Given the description of an element on the screen output the (x, y) to click on. 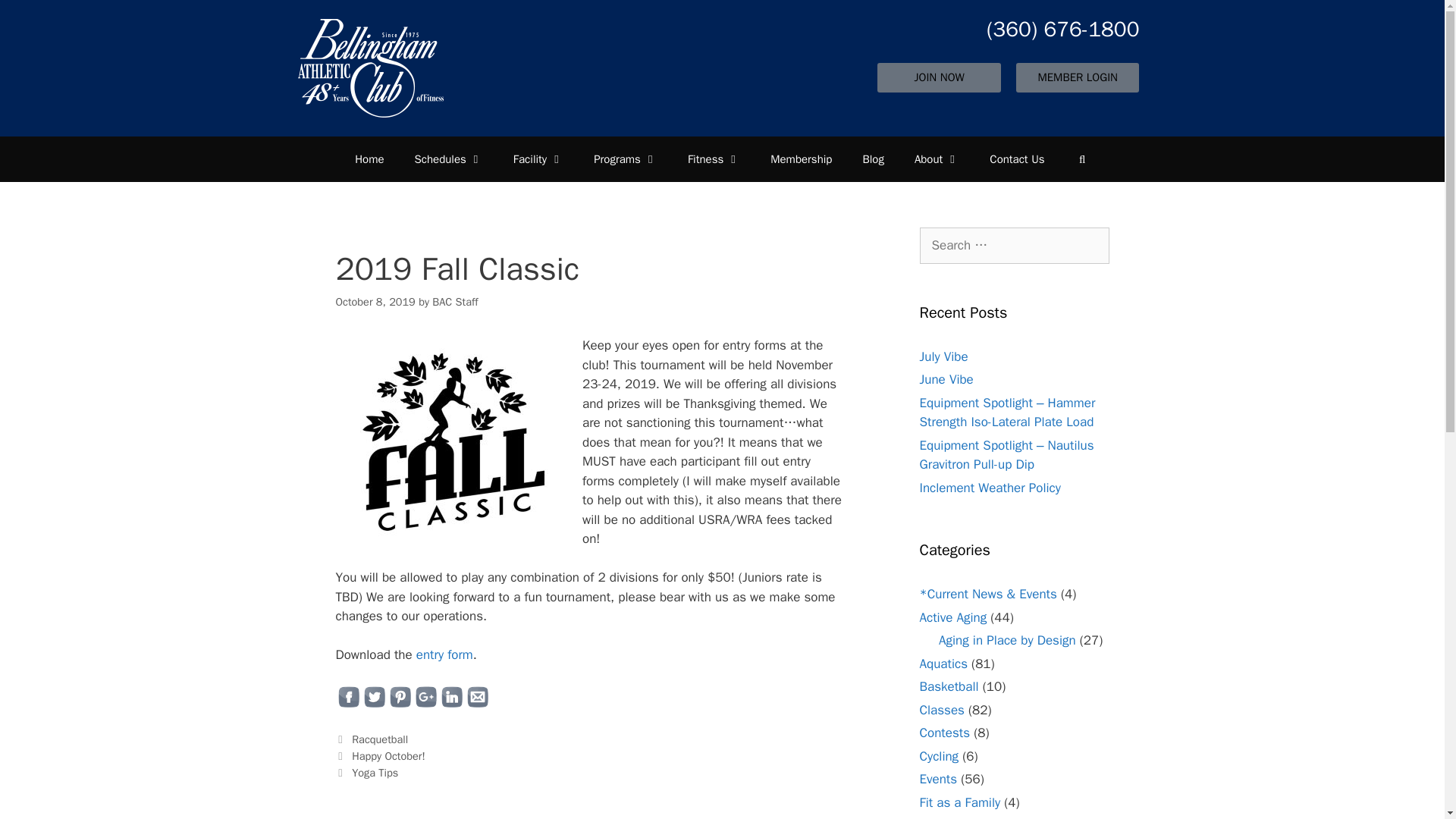
MEMBER LOGIN (1077, 77)
Facility (537, 158)
Membership (801, 158)
Home (368, 158)
google (425, 696)
twitter (374, 696)
About (936, 158)
View all posts by BAC Staff (454, 301)
email (476, 696)
Programs (625, 158)
Search for: (1013, 245)
Contact Us (1016, 158)
Fitness (713, 158)
Schedules (447, 158)
pinterest (399, 696)
